Given the description of an element on the screen output the (x, y) to click on. 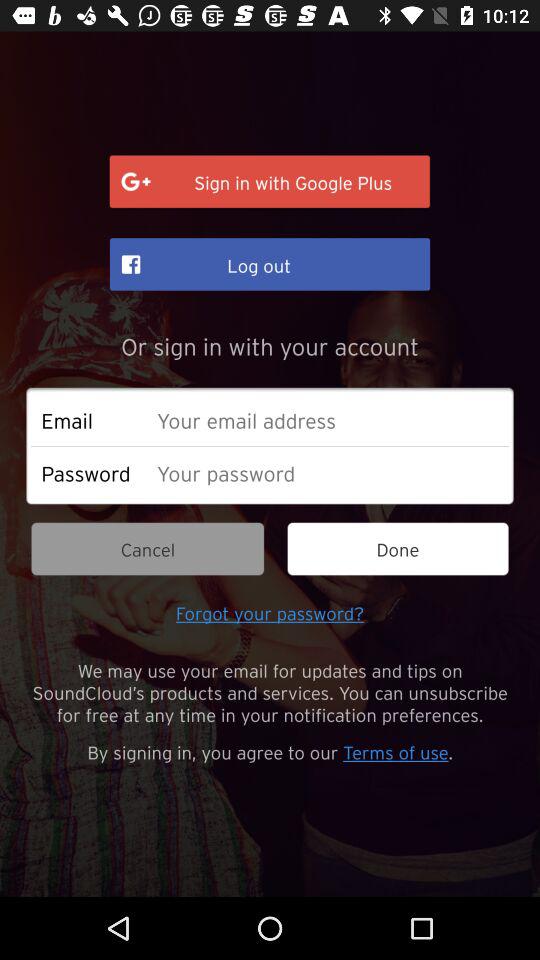
tap by signing in icon (269, 751)
